Given the description of an element on the screen output the (x, y) to click on. 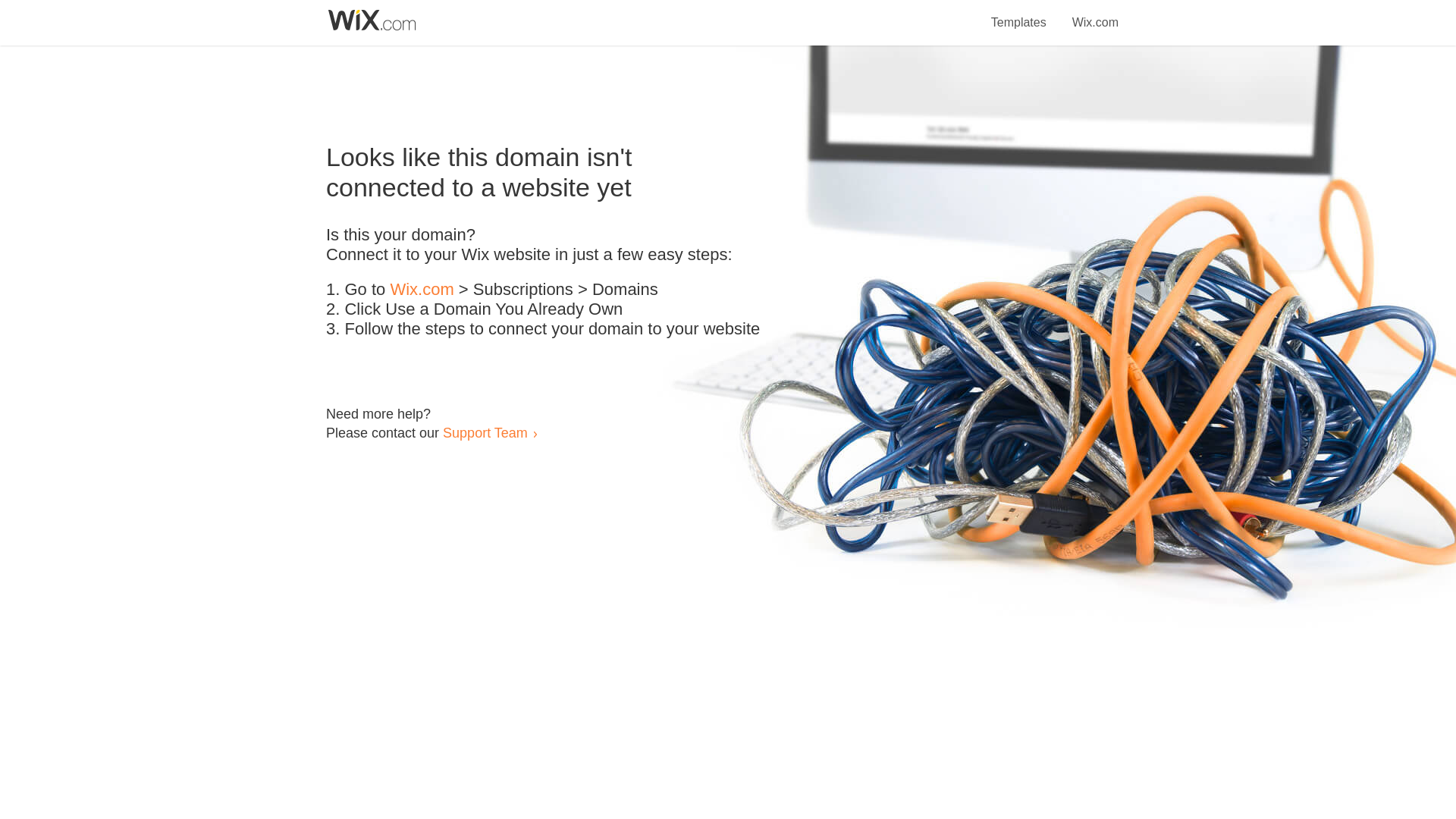
Templates (1018, 14)
Wix.com (1095, 14)
Support Team (484, 432)
Wix.com (421, 289)
